Given the description of an element on the screen output the (x, y) to click on. 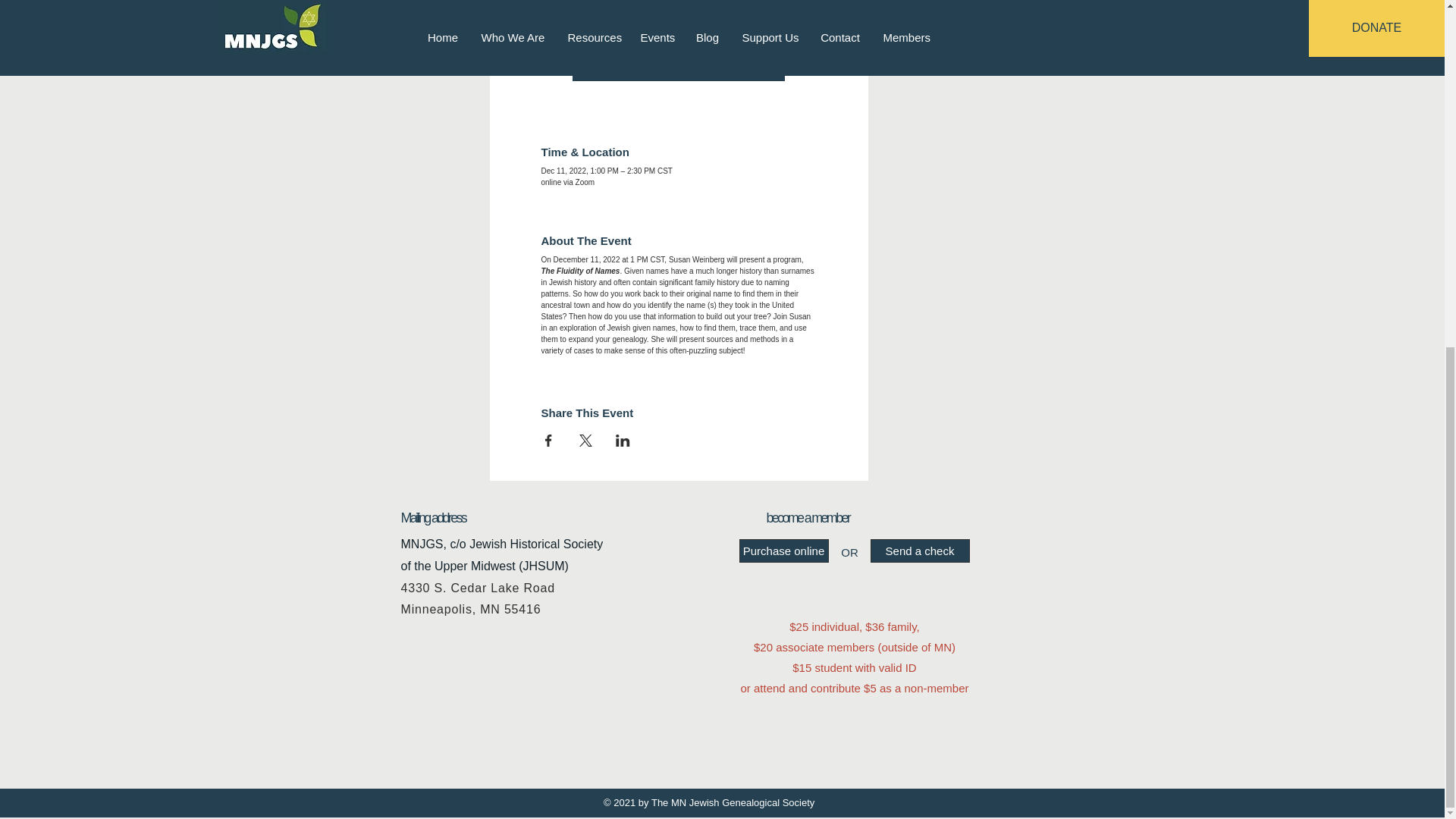
Facebook Like (474, 729)
Send a check (919, 550)
Purchase online (783, 550)
See other events (679, 55)
